Given the description of an element on the screen output the (x, y) to click on. 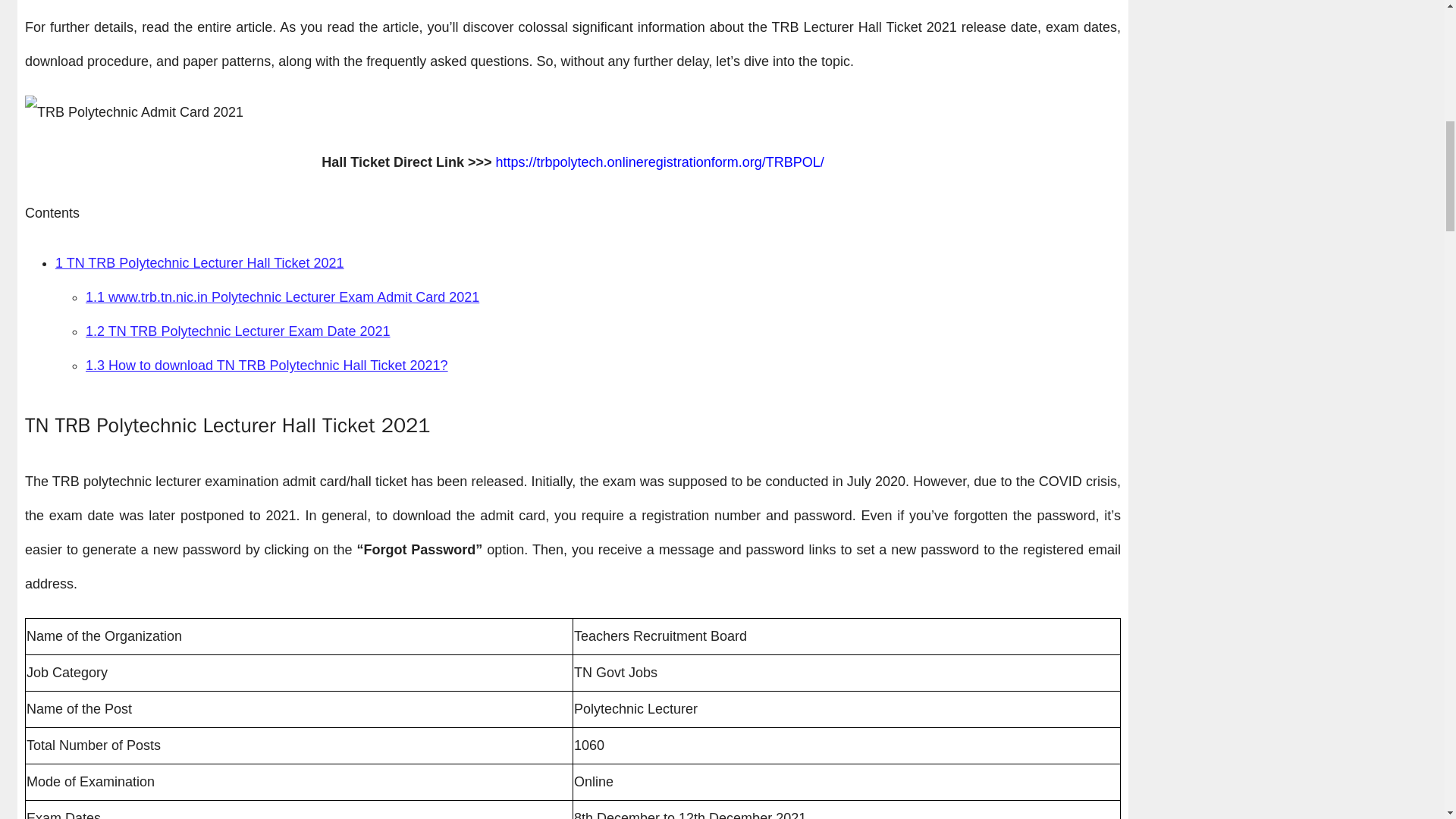
1.3 How to download TN TRB Polytechnic Hall Ticket 2021? (266, 365)
1.2 TN TRB Polytechnic Lecturer Exam Date 2021 (237, 331)
1 TN TRB Polytechnic Lecturer Hall Ticket 2021 (199, 263)
